Given the description of an element on the screen output the (x, y) to click on. 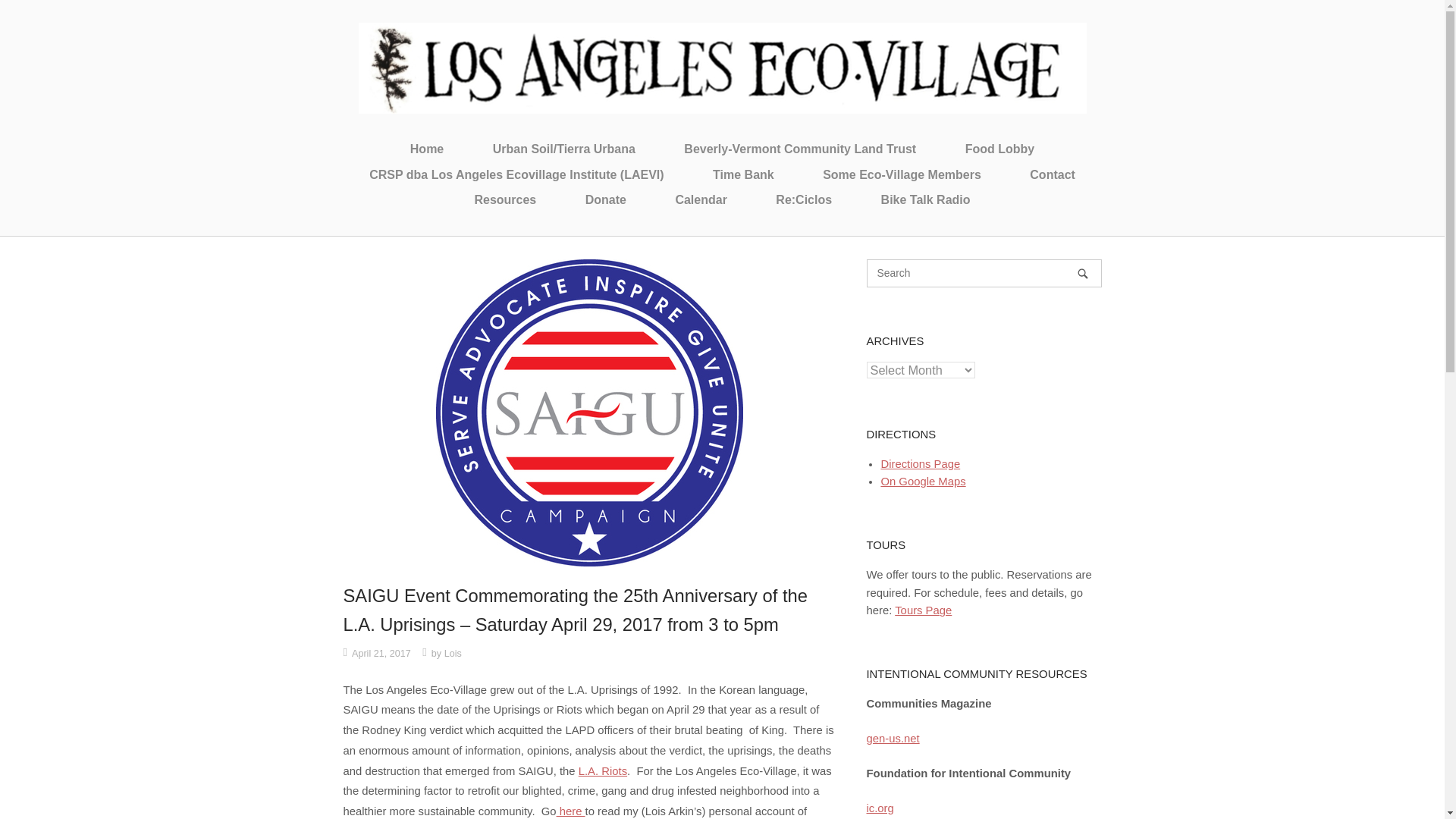
Food Lobby (1000, 148)
Lois (452, 653)
Contact (1052, 175)
Beverly-Vermont Community Land Trust (800, 148)
Bike Talk Radio (925, 199)
Home (722, 67)
Time Bank (743, 175)
Home (426, 148)
Donate (605, 199)
here (570, 811)
Resources (505, 199)
Some Eco-Village Members (901, 175)
April 21, 2017 (381, 653)
Re:Ciclos (803, 199)
Calendar (700, 199)
